Given the description of an element on the screen output the (x, y) to click on. 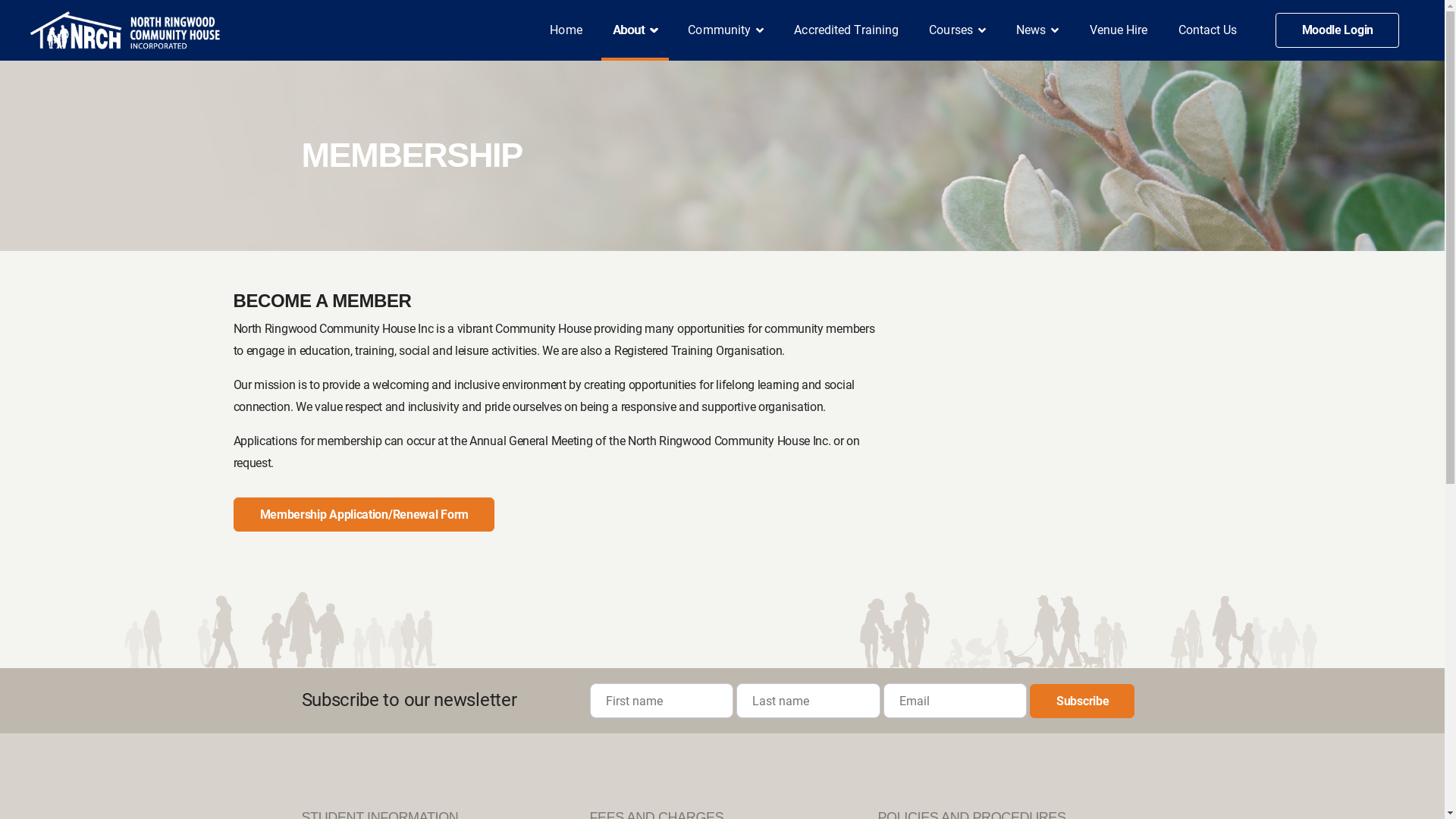
News Element type: text (1037, 30)
Community Element type: text (725, 30)
Home Element type: text (565, 30)
Courses Element type: text (957, 30)
Membership Application/Renewal Form Element type: text (364, 514)
Moodle Login Element type: text (1337, 29)
Contact Us Element type: text (1207, 30)
Subscribe Element type: text (1081, 701)
About Element type: text (635, 30)
Venue Hire Element type: text (1118, 30)
Accredited Training Element type: text (846, 30)
